Given the description of an element on the screen output the (x, y) to click on. 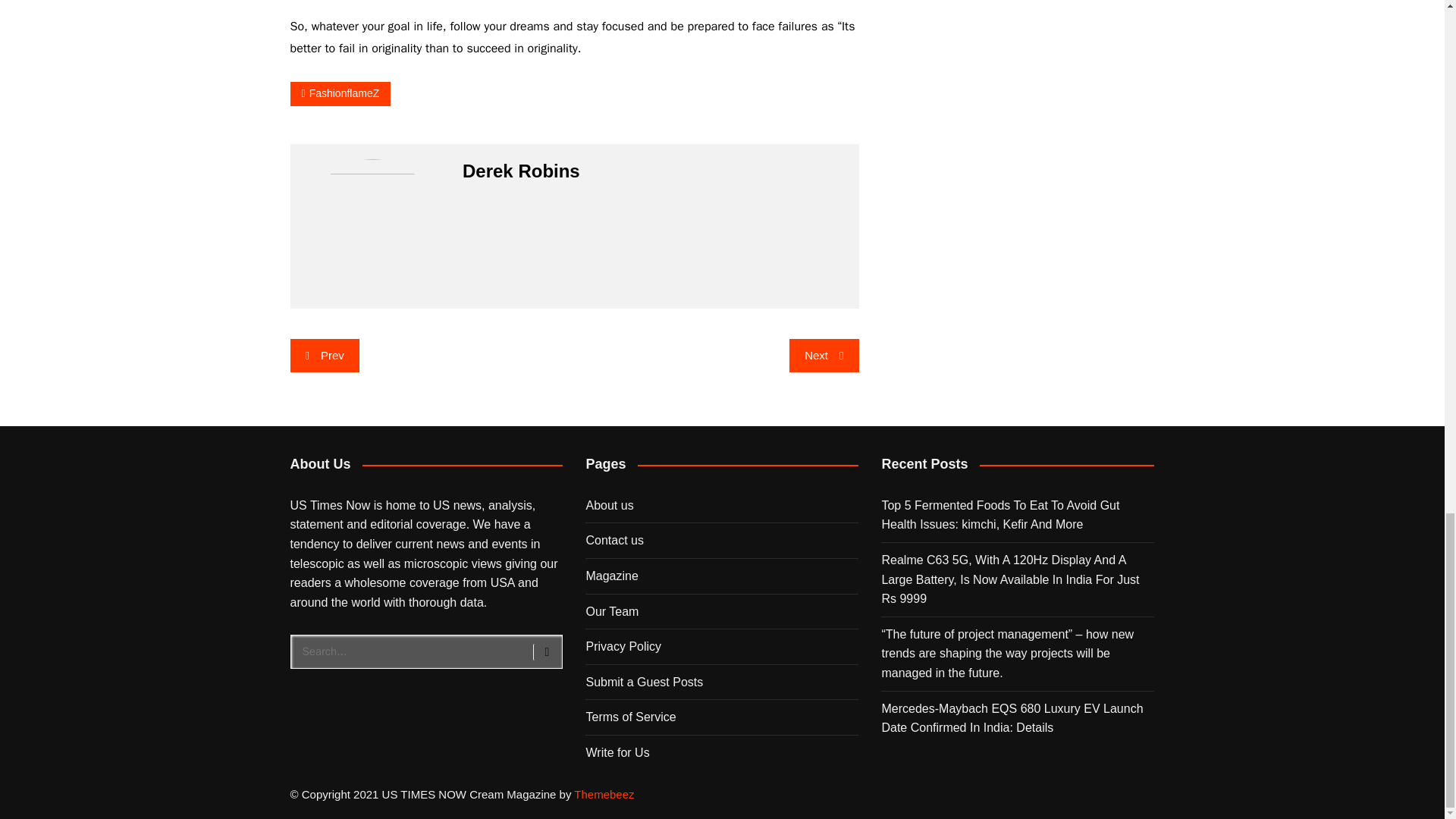
About us (609, 504)
Next (824, 355)
Prev (323, 355)
FashionflameZ (339, 93)
